Given the description of an element on the screen output the (x, y) to click on. 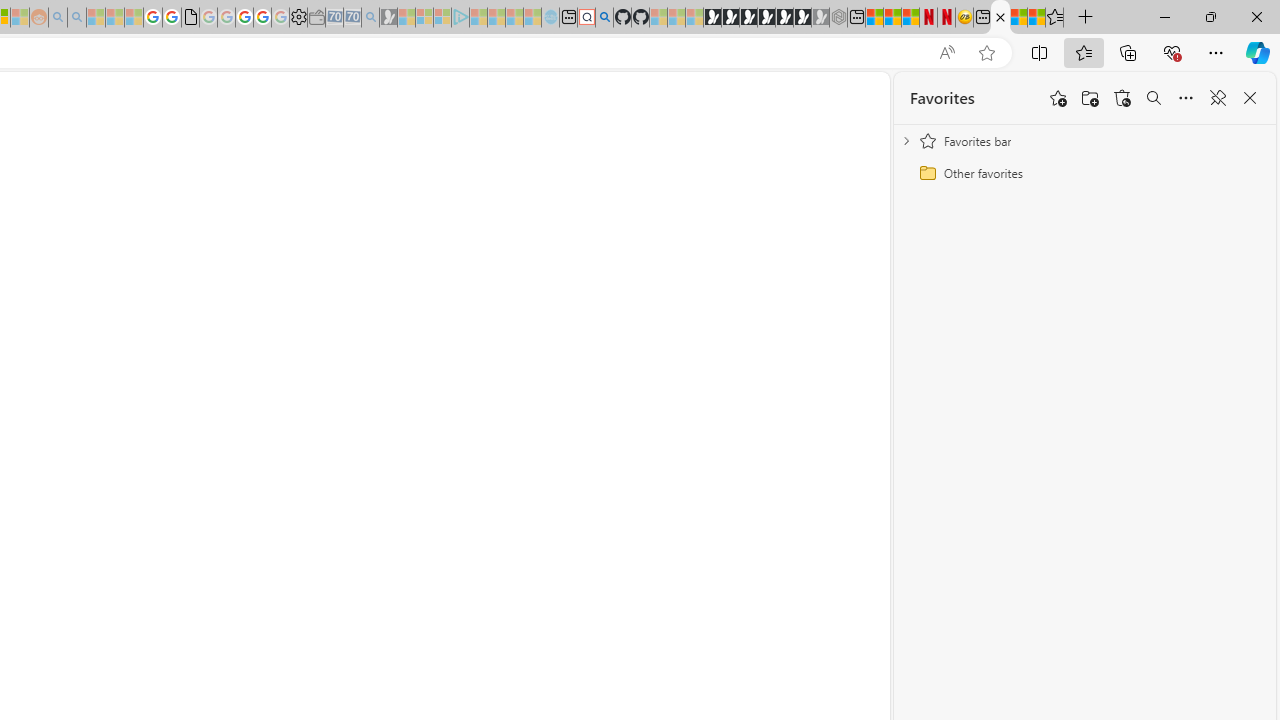
Add folder (1089, 98)
Wallet - Sleeping (316, 17)
github - Search (604, 17)
Restore deleted favorites (1122, 98)
